Given the description of an element on the screen output the (x, y) to click on. 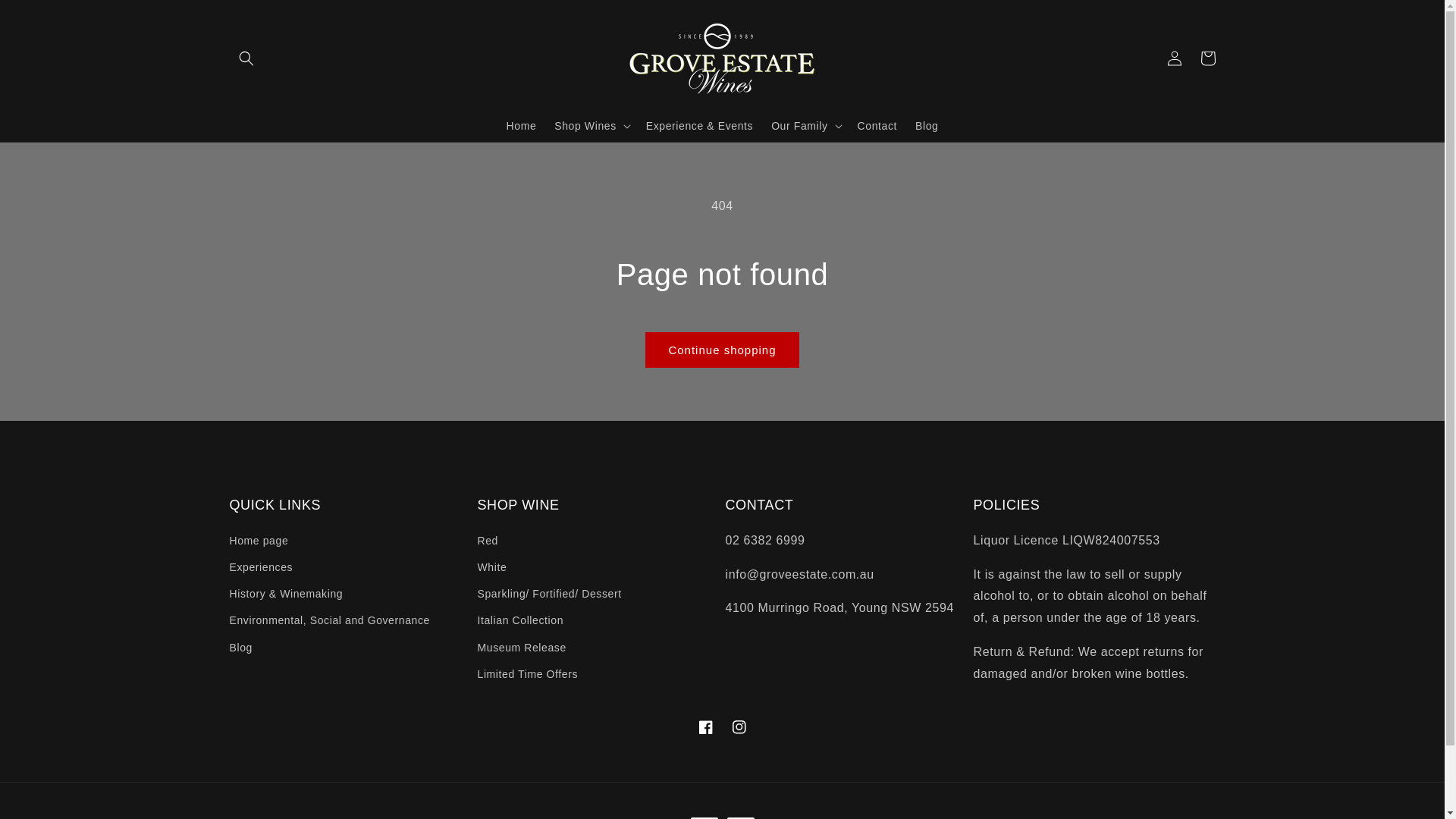
History & Winemaking Element type: text (285, 593)
Experience & Events Element type: text (699, 125)
White Element type: text (492, 567)
Limited Time Offers Element type: text (527, 674)
Experiences Element type: text (260, 567)
Environmental, Social and Governance Element type: text (329, 620)
Red Element type: text (487, 542)
Contact Element type: text (877, 125)
Cart Element type: text (1206, 58)
Home page Element type: text (258, 542)
Instagram Element type: text (738, 726)
Italian Collection Element type: text (520, 620)
Museum Release Element type: text (521, 647)
Log in Element type: text (1173, 58)
Sparkling/ Fortified/ Dessert Element type: text (549, 593)
Facebook Element type: text (704, 726)
Continue shopping Element type: text (721, 349)
Blog Element type: text (240, 647)
Blog Element type: text (926, 125)
Home Element type: text (521, 125)
